Given the description of an element on the screen output the (x, y) to click on. 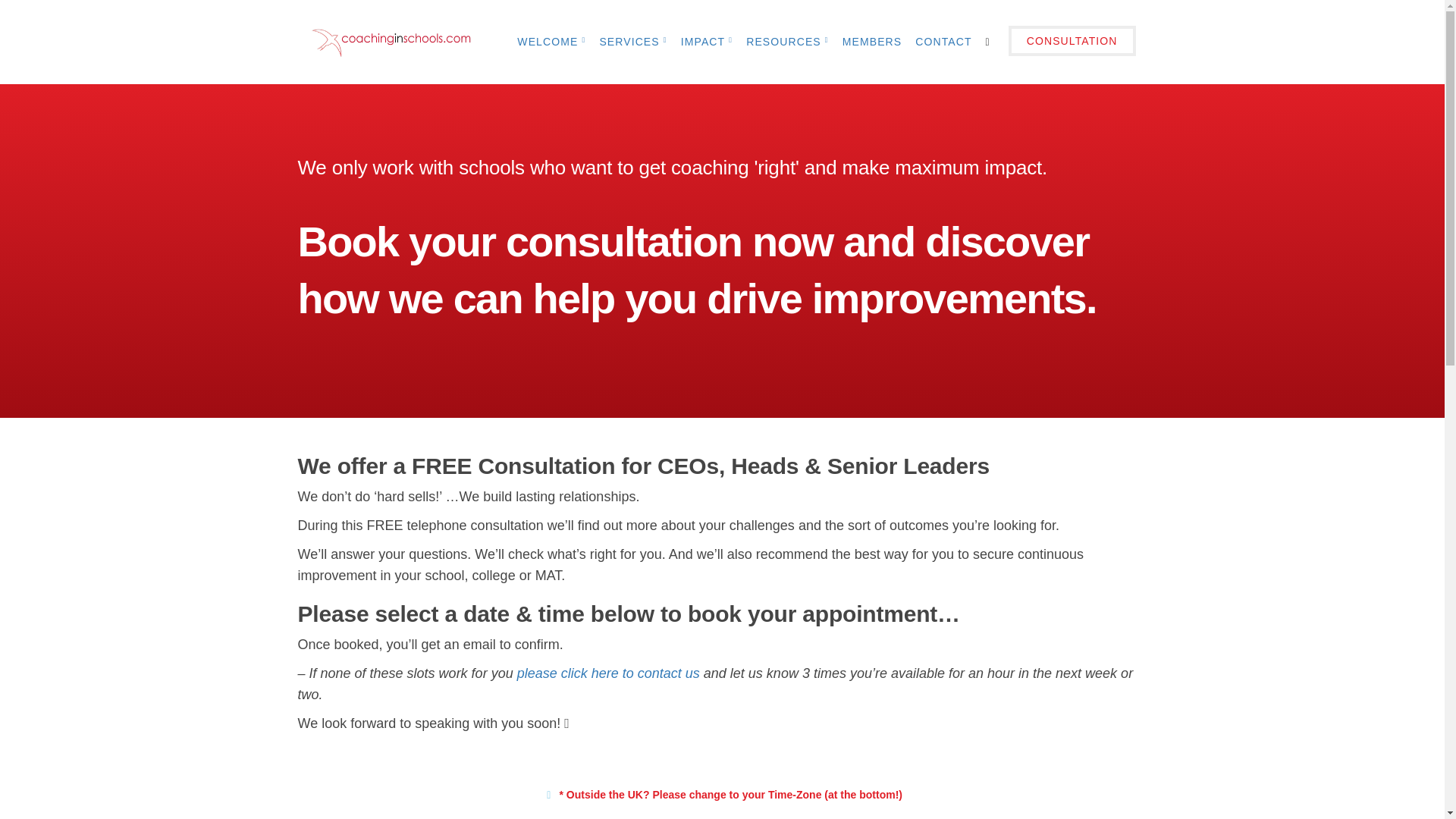
Search (18, 18)
RESOURCES (786, 42)
CONSULTATION (1072, 42)
